Given the description of an element on the screen output the (x, y) to click on. 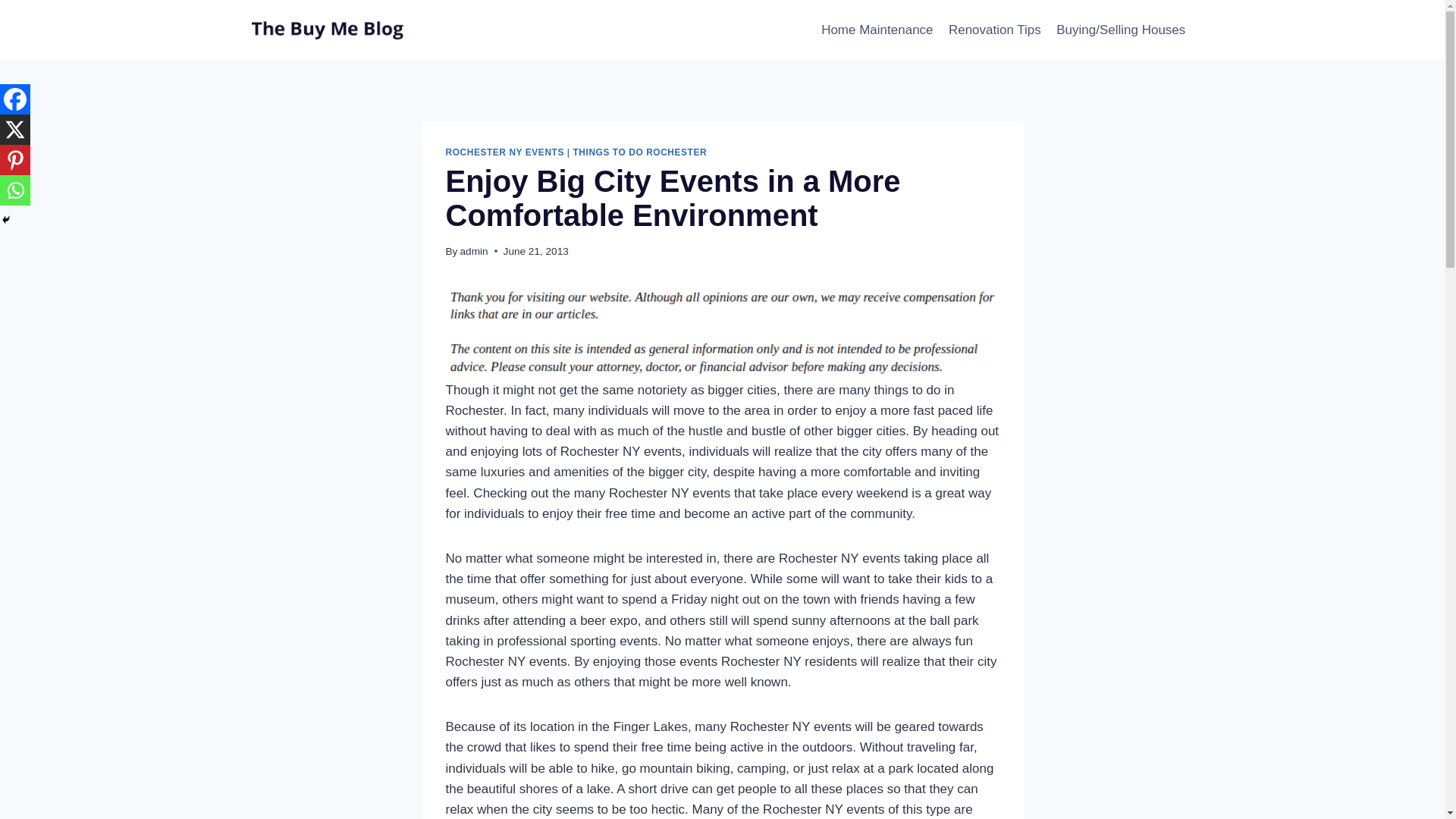
Pinterest (15, 159)
Home Maintenance (876, 30)
Renovation Tips (994, 30)
Hide (5, 219)
admin (473, 251)
Whatsapp (15, 190)
ROCHESTER NY EVENTS (504, 152)
THINGS TO DO ROCHESTER (639, 152)
Facebook (15, 99)
X (15, 129)
